Given the description of an element on the screen output the (x, y) to click on. 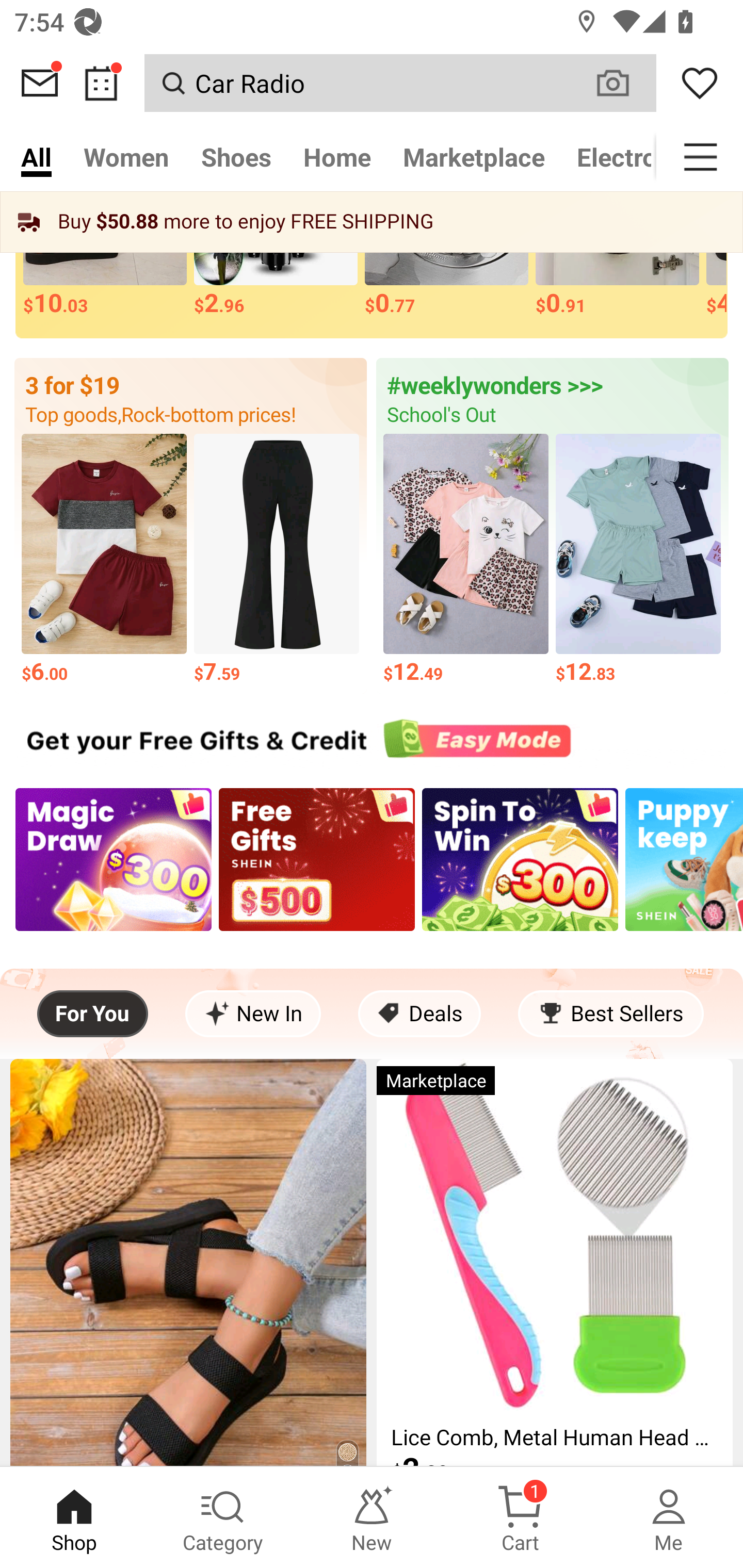
Wishlist (699, 82)
VISUAL SEARCH (623, 82)
All (36, 156)
Women (126, 156)
Shoes (236, 156)
Home (337, 156)
Marketplace (473, 156)
Electronics (608, 156)
$6.00 Price $6.00 (103, 560)
$7.59 Price $7.59 (276, 560)
$12.49 Price $12.49 (465, 560)
$12.83 Price $12.83 (638, 560)
New In (252, 1013)
Deals (419, 1013)
Best Sellers (610, 1013)
Category (222, 1517)
New (371, 1517)
Cart 1 Cart (519, 1517)
Me (668, 1517)
